Given the description of an element on the screen output the (x, y) to click on. 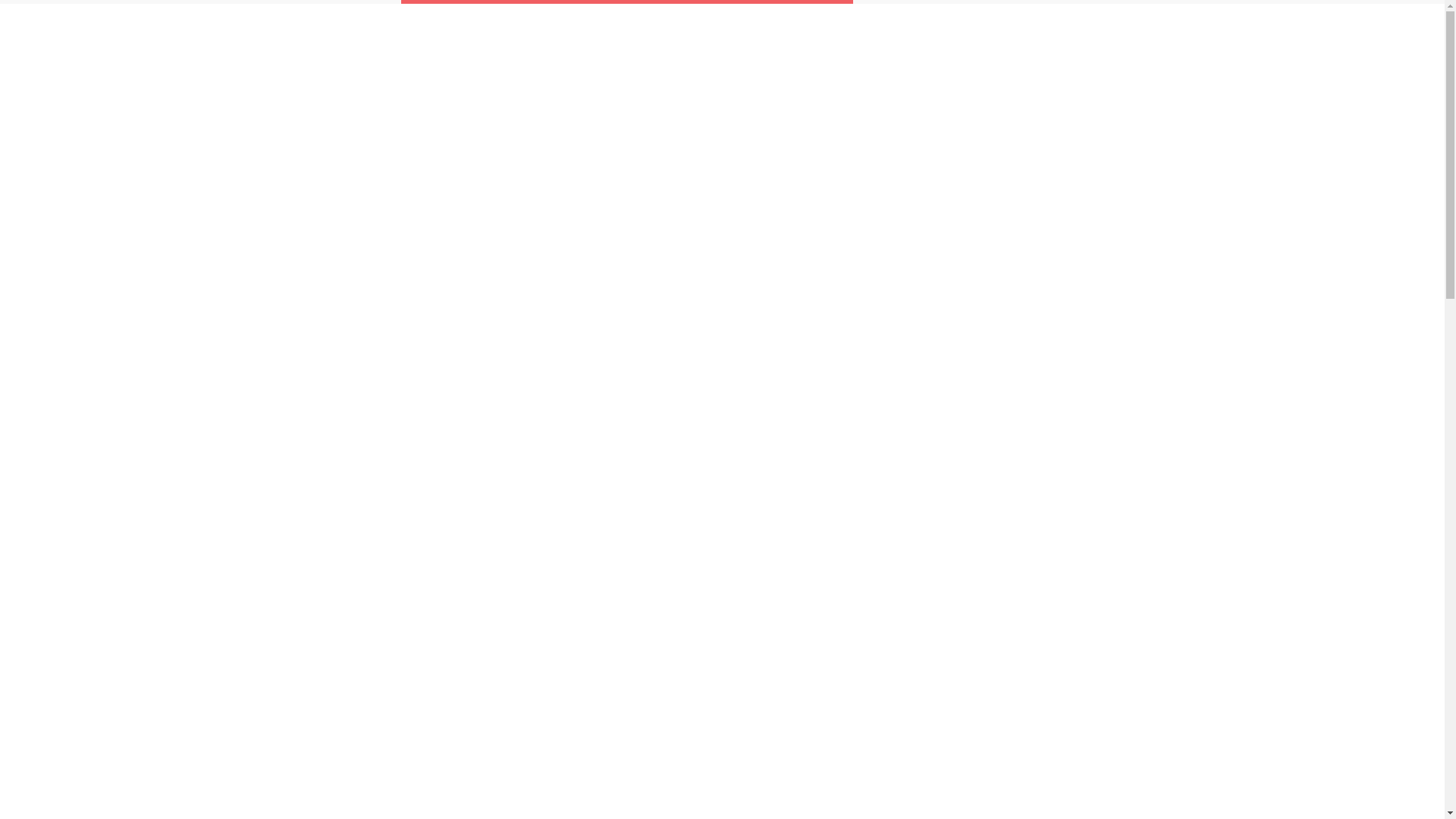
 English Element type: text (1398, 25)
About Element type: text (1332, 25)
Home Element type: text (1275, 25)
